Given the description of an element on the screen output the (x, y) to click on. 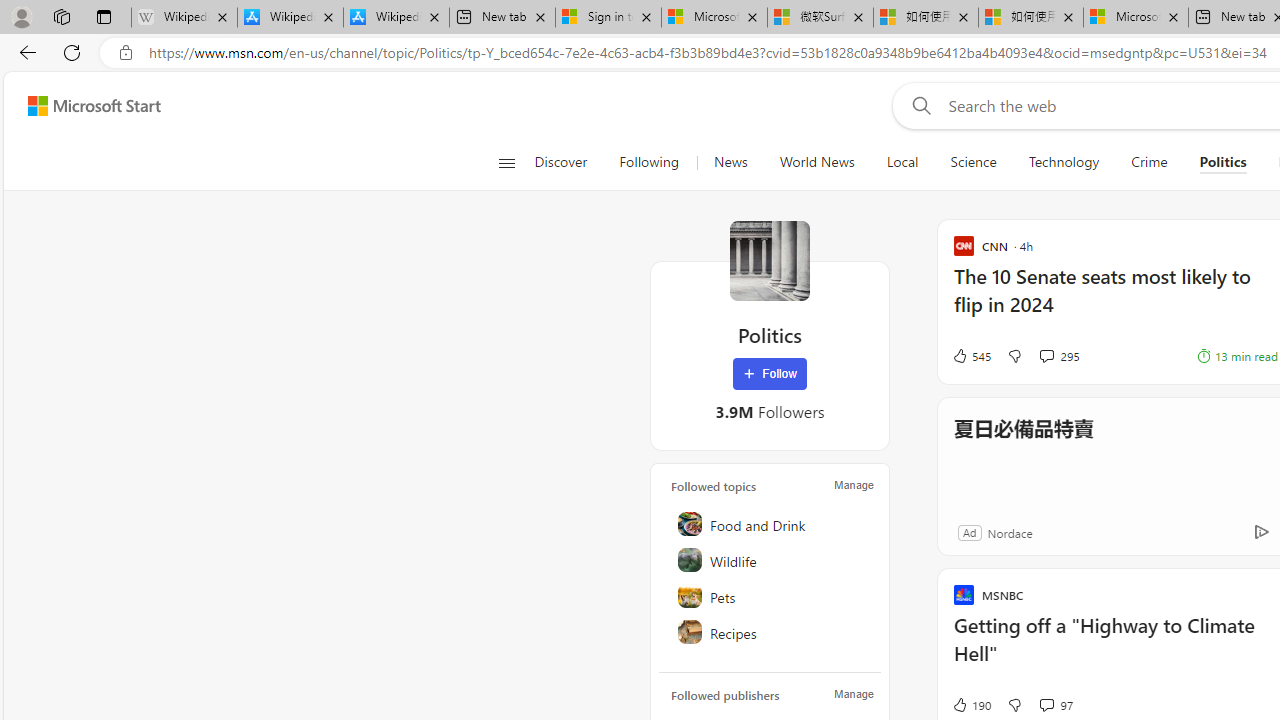
View comments 295 Comment (1059, 355)
190 Like (970, 704)
Wildlife (771, 560)
